Given the description of an element on the screen output the (x, y) to click on. 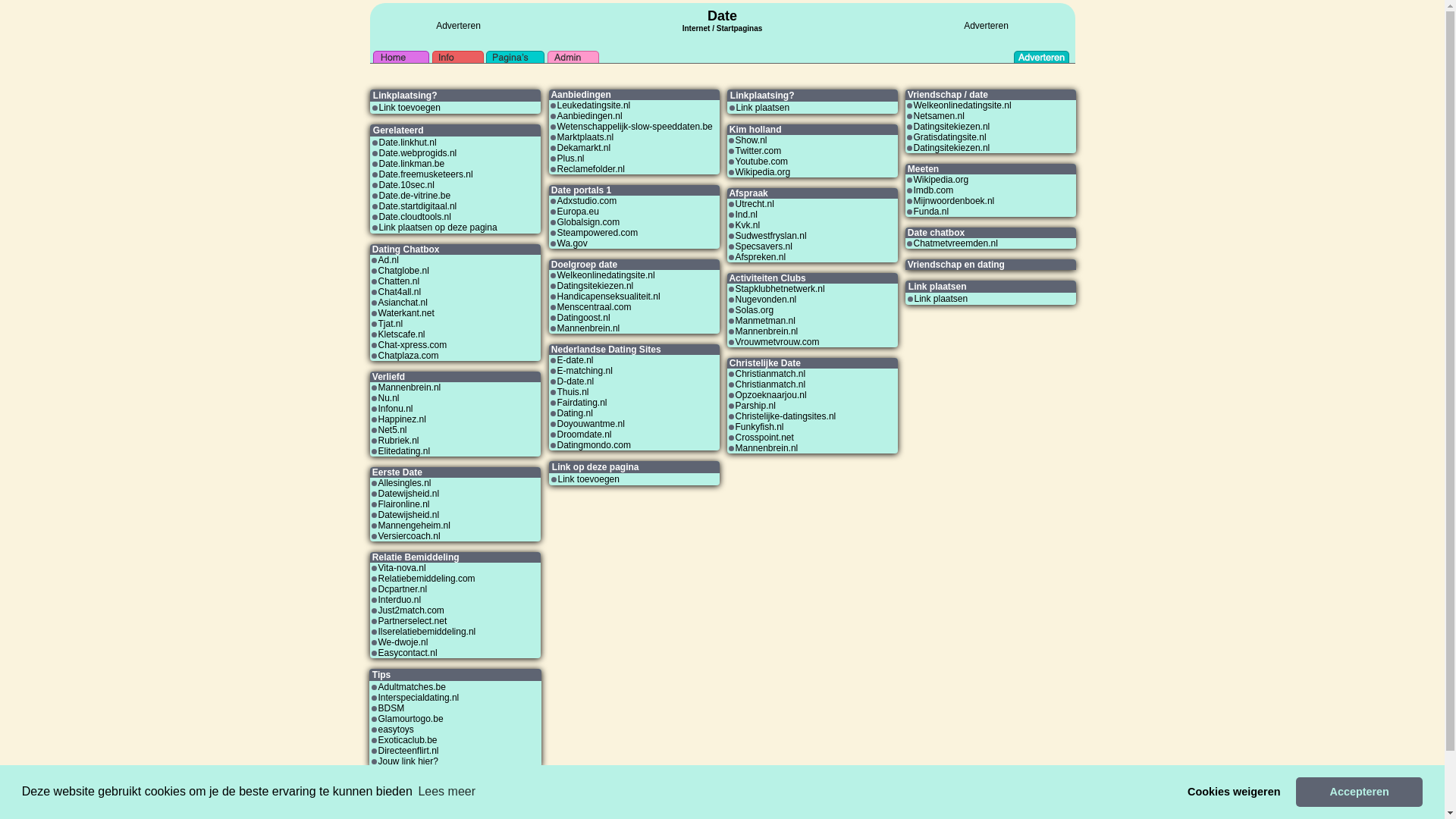
Just2match.com Element type: text (410, 610)
Mannengeheim.nl Element type: text (413, 525)
Easycontact.nl Element type: text (406, 652)
Tjat.nl Element type: text (389, 323)
Startpaginas Element type: text (739, 28)
Versiercoach.nl Element type: text (408, 535)
Date.de-vitrine.be Element type: text (415, 195)
Vrouwmetvrouw.com Element type: text (777, 341)
Chatglobe.nl Element type: text (402, 270)
Dekamarkt.nl Element type: text (583, 147)
We-dwoje.nl Element type: text (402, 642)
Adverteren Element type: text (458, 25)
Adultmatches.be Element type: text (411, 686)
Nu.nl Element type: text (387, 397)
Dating.nl Element type: text (574, 412)
D-date.nl Element type: text (574, 381)
Accepteren Element type: text (1358, 791)
Kletscafe.nl Element type: text (400, 334)
Doyouwantme.nl Element type: text (590, 423)
Adverteren Element type: text (985, 25)
Fairdating.nl Element type: text (581, 402)
Plus.nl Element type: text (569, 158)
Rubriek.nl Element type: text (397, 440)
Date.linkhut.nl Element type: text (407, 142)
Link toevoegen Element type: text (409, 107)
Mail webmaster Element type: text (926, 810)
Parship.nl Element type: text (755, 405)
Interduo.nl Element type: text (398, 599)
Directeenflirt.nl Element type: text (407, 750)
BDSM Element type: text (390, 707)
Kvk.nl Element type: text (747, 224)
Datingsitekiezen.nl Element type: text (594, 285)
Allesingles.nl Element type: text (403, 482)
Reclamefolder.nl Element type: text (590, 168)
Menscentraal.com Element type: text (593, 306)
Net5.nl Element type: text (391, 429)
Leukedatingsite.nl Element type: text (593, 105)
E-matching.nl Element type: text (583, 370)
Date.startdigitaal.nl Element type: text (418, 205)
Datewijsheid.nl Element type: text (408, 514)
Date.webprogids.nl Element type: text (418, 152)
Solas.org Element type: text (754, 309)
Ad.nl Element type: text (387, 259)
Marktplaats.nl Element type: text (584, 136)
Date.10sec.nl Element type: text (406, 184)
Adxstudio.com Element type: text (586, 200)
Exoticaclub.be Element type: text (406, 739)
Mijnwoordenboek.nl Element type: text (953, 200)
Datewijsheid.nl Element type: text (408, 493)
Datingsitekiezen.nl Element type: text (951, 126)
Netsamen.nl Element type: text (938, 115)
Mannenbrein.nl Element type: text (766, 331)
E-date.nl Element type: text (574, 359)
Imdb.com Element type: text (933, 190)
Chat4all.nl Element type: text (398, 291)
Elitedating.nl Element type: text (403, 450)
Wa.gov Element type: text (571, 243)
Chat-xpress.com Element type: text (411, 344)
Stapklubhetnetwerk.nl Element type: text (780, 288)
Adverteren Element type: text (919, 802)
Waterkant.net Element type: text (405, 312)
Chatplaza.com Element type: text (407, 355)
Funkyfish.nl Element type: text (759, 426)
Thuis.nl Element type: text (572, 391)
Infonu.nl Element type: text (394, 408)
Christianmatch.nl Element type: text (770, 384)
Mannenbrein.nl Element type: text (587, 328)
Handicapenseksualiteit.nl Element type: text (607, 296)
Glamourtogo.be Element type: text (409, 718)
Relatiebemiddeling.com Element type: text (425, 578)
Link plaatsen Element type: text (762, 107)
Chatten.nl Element type: text (398, 281)
Happinez.nl Element type: text (401, 419)
Interspecialdating.nl Element type: text (417, 697)
Dcpartner.nl Element type: text (401, 588)
Nugevonden.nl Element type: text (766, 299)
Wikipedia.org Element type: text (940, 179)
Date Element type: text (722, 15)
Utrecht.nl Element type: text (754, 203)
Christelijke-datingsites.nl Element type: text (785, 416)
Globalsign.com Element type: text (587, 221)
Opzoeknaarjou.nl Element type: text (770, 394)
Jouw link hier? Element type: text (407, 761)
Droomdate.nl Element type: text (583, 434)
Funda.nl Element type: text (930, 211)
Aanbiedingen.nl Element type: text (588, 115)
Crosspoint.net Element type: text (764, 437)
Mannenbrein.nl Element type: text (408, 387)
Europa.eu Element type: text (577, 211)
Link plaatsen Element type: text (941, 298)
Afspreken.nl Element type: text (760, 256)
Welkeonlinedatingsite.nl Element type: text (605, 274)
Datingsitekiezen.nl Element type: text (951, 147)
Datingoost.nl Element type: text (582, 317)
Gratisdatingsite.nl Element type: text (949, 136)
Welkeonlinedatingsite.nl Element type: text (961, 105)
Chatmetvreemden.nl Element type: text (955, 243)
Linkplaatsing Element type: text (395, 802)
Ind.nl Element type: text (746, 214)
Wikipedia.org Element type: text (762, 171)
Manmetman.nl Element type: text (765, 320)
Partnerselect.net Element type: text (411, 620)
Link plaatsen op deze pagina Element type: text (438, 227)
Datingmondo.com Element type: text (593, 444)
Ilserelatiebemiddeling.nl Element type: text (426, 631)
Cookies weigeren Element type: text (1233, 791)
Christianmatch.nl Element type: text (770, 373)
easytoys Element type: text (395, 729)
Specsavers.nl Element type: text (763, 246)
Link ruilen Element type: text (390, 810)
Date.cloudtools.nl Element type: text (415, 216)
Show.nl Element type: text (751, 139)
Wetenschappelijk-slow-speeddaten.be Element type: text (634, 126)
Steampowered.com Element type: text (596, 232)
Link toevoegen Element type: text (588, 478)
Date.freemusketeers.nl Element type: text (426, 174)
Flaironline.nl Element type: text (403, 503)
Twitter.com Element type: text (758, 150)
Vita-nova.nl Element type: text (401, 567)
Mannenbrein.nl Element type: text (766, 447)
Youtube.com Element type: text (761, 161)
Sudwestfryslan.nl Element type: text (770, 235)
Internet Element type: text (696, 26)
Lees meer Element type: text (446, 791)
Asianchat.nl Element type: text (401, 302)
Date.linkman.be Element type: text (412, 163)
